Given the description of an element on the screen output the (x, y) to click on. 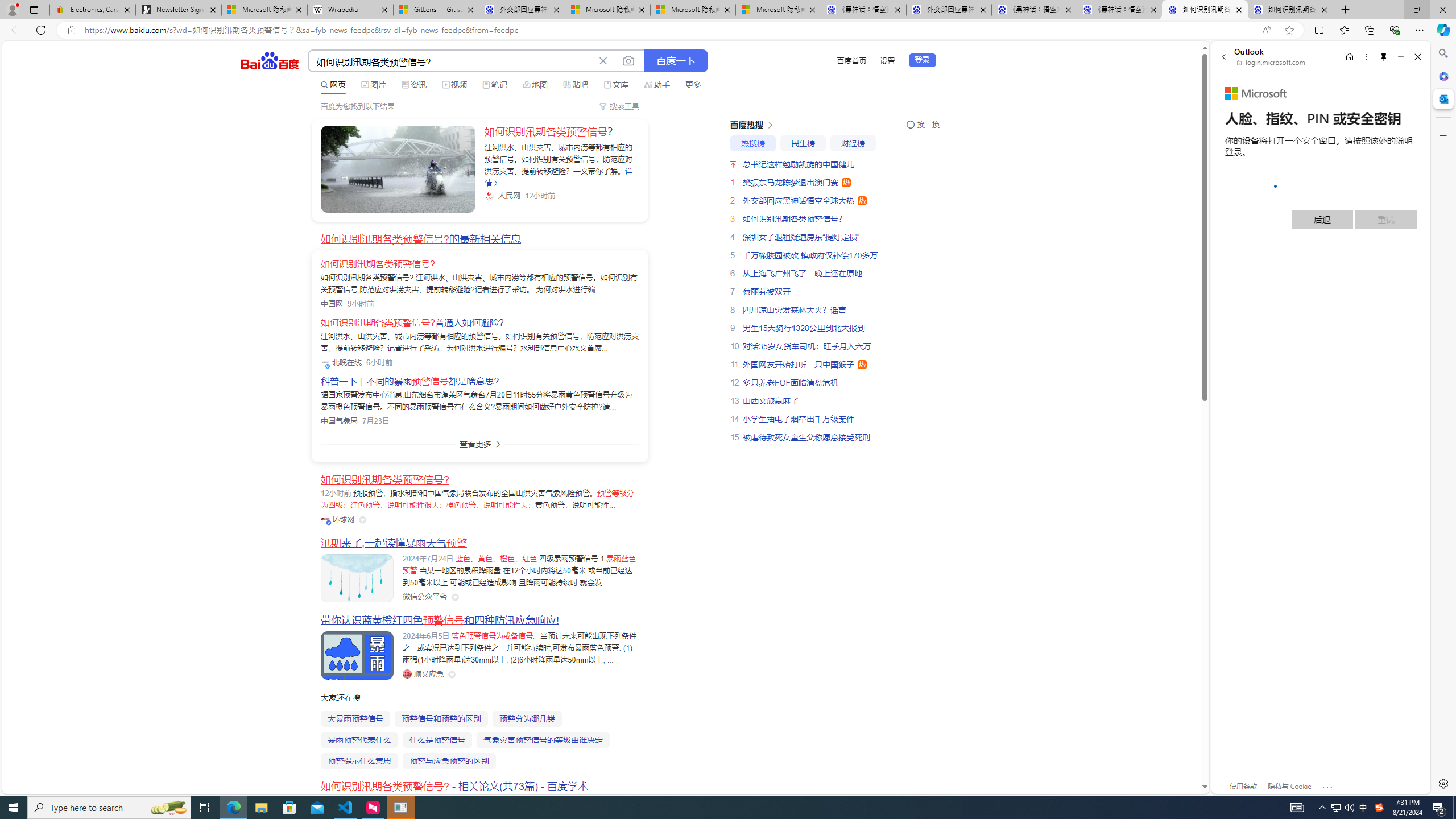
Newsletter Sign Up (178, 9)
